Given the description of an element on the screen output the (x, y) to click on. 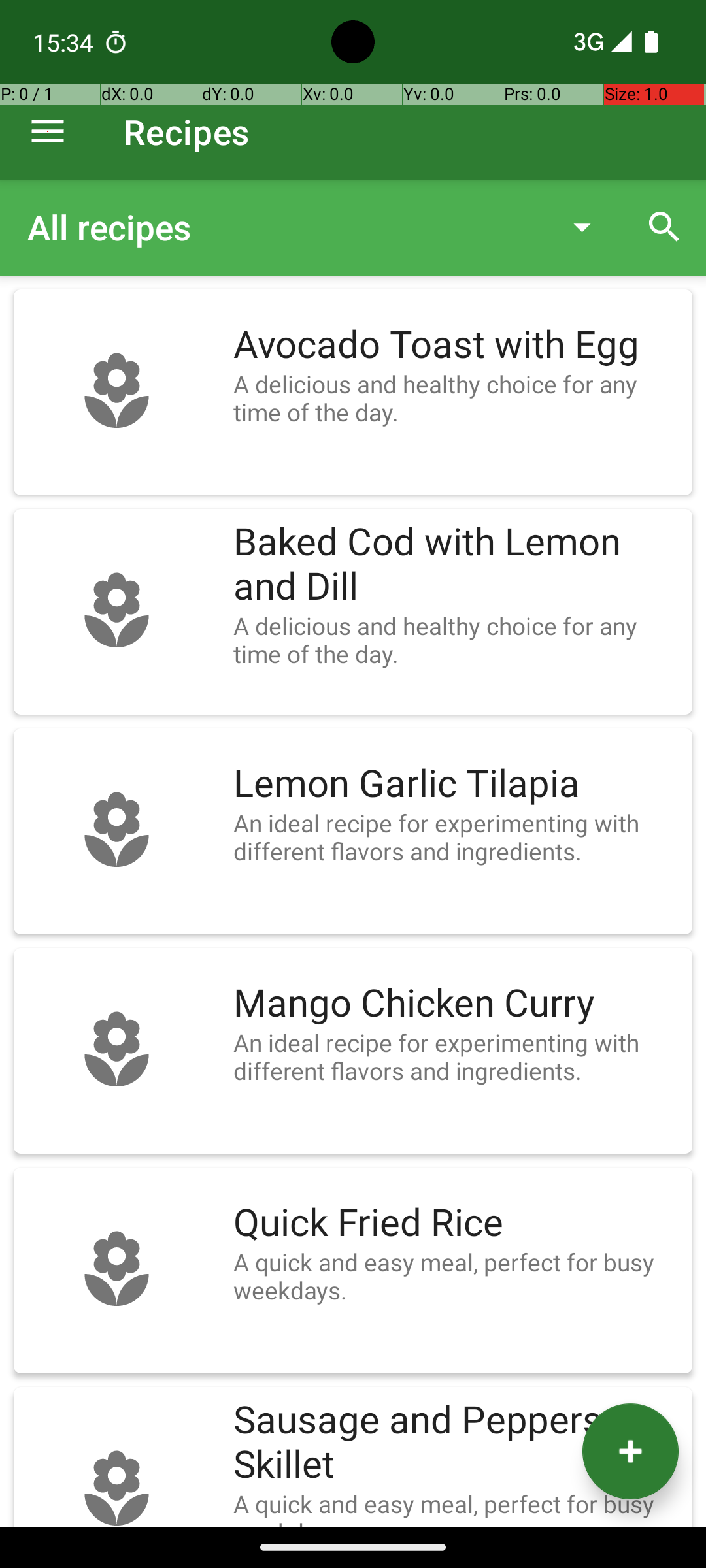
Sausage and Peppers Skillet Element type: android.widget.TextView (455, 1442)
